Given the description of an element on the screen output the (x, y) to click on. 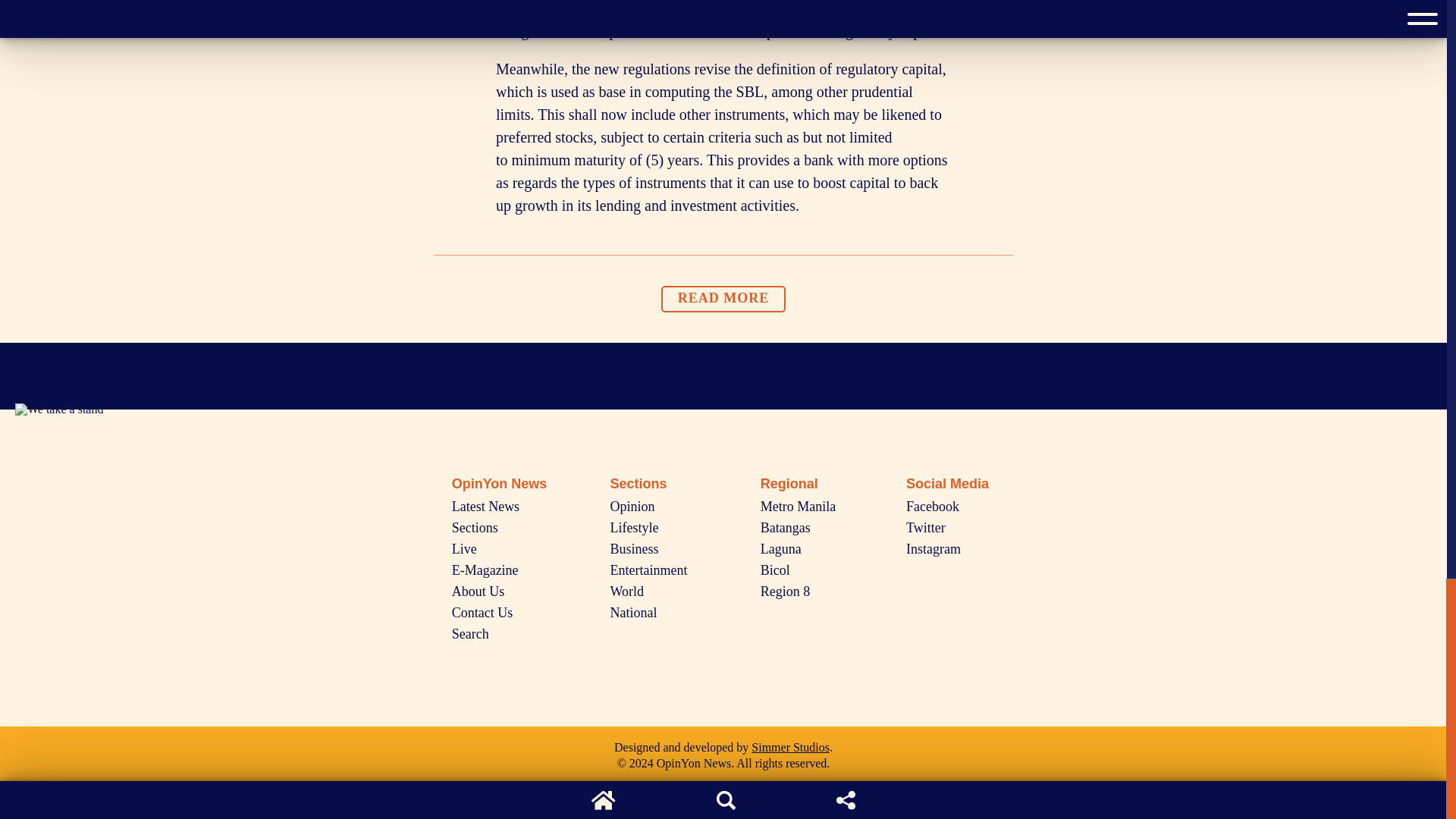
National (634, 612)
Bicol (775, 570)
Batangas (785, 527)
World (627, 590)
Laguna (781, 548)
Lifestyle (634, 527)
Entertainment (648, 570)
Opinion (632, 506)
Contact Us (482, 612)
Latest News (485, 506)
